Given the description of an element on the screen output the (x, y) to click on. 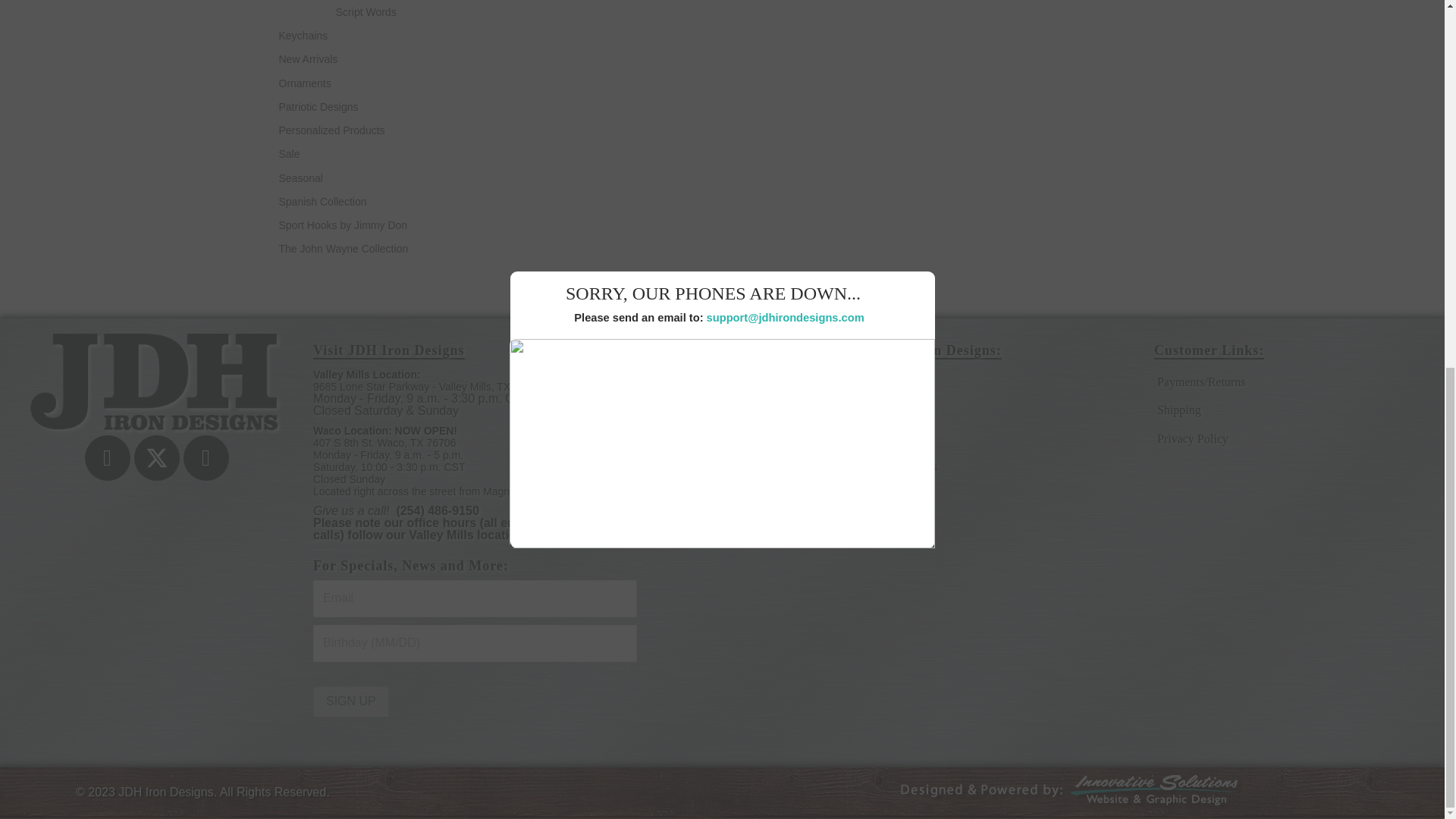
Facebook (107, 457)
innovative-logo-footer (1072, 792)
jdh-footer-logo-revised (156, 383)
Instagram (205, 457)
SIGN UP (350, 702)
